Given the description of an element on the screen output the (x, y) to click on. 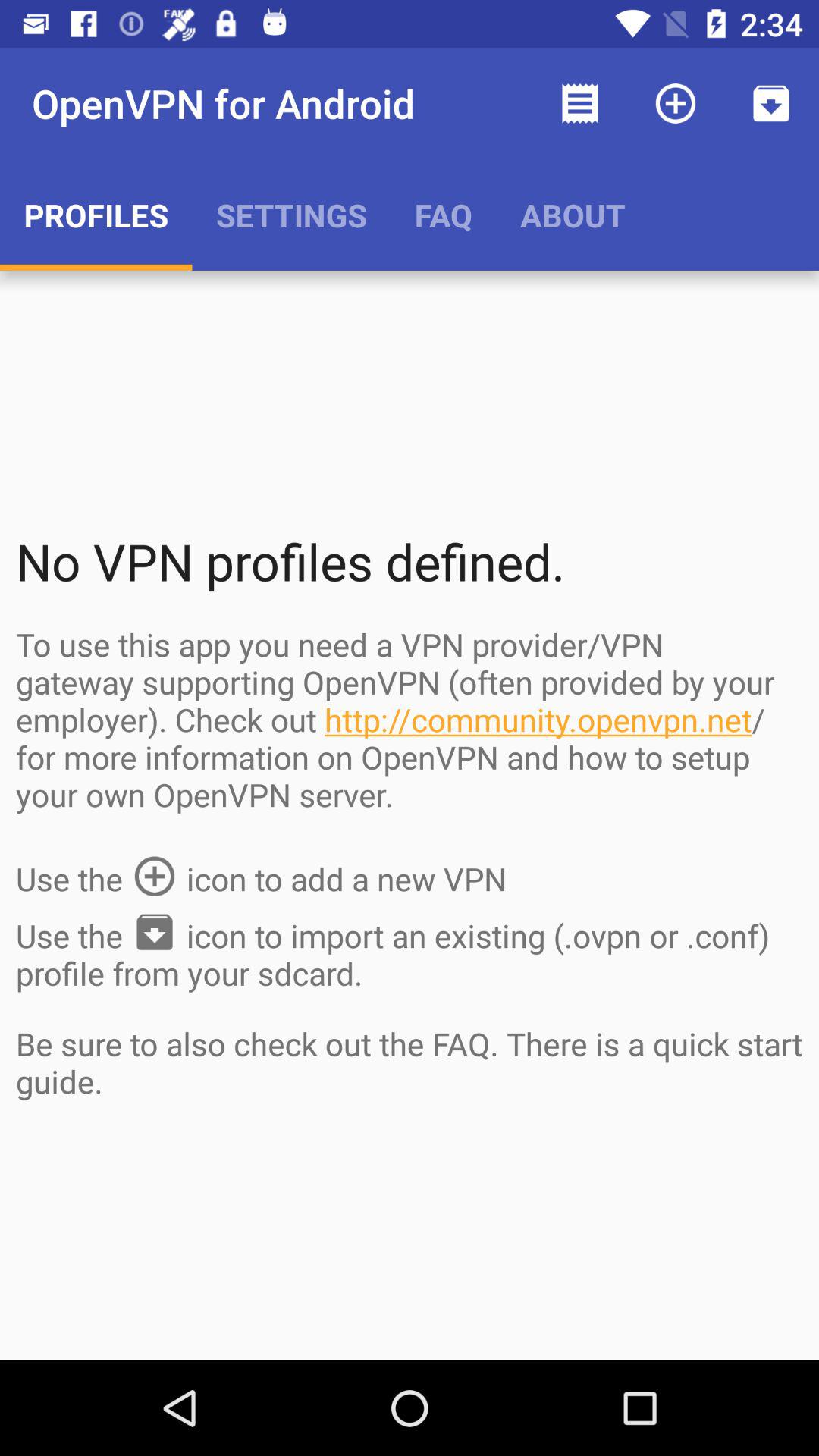
tap the item above the about app (579, 103)
